Given the description of an element on the screen output the (x, y) to click on. 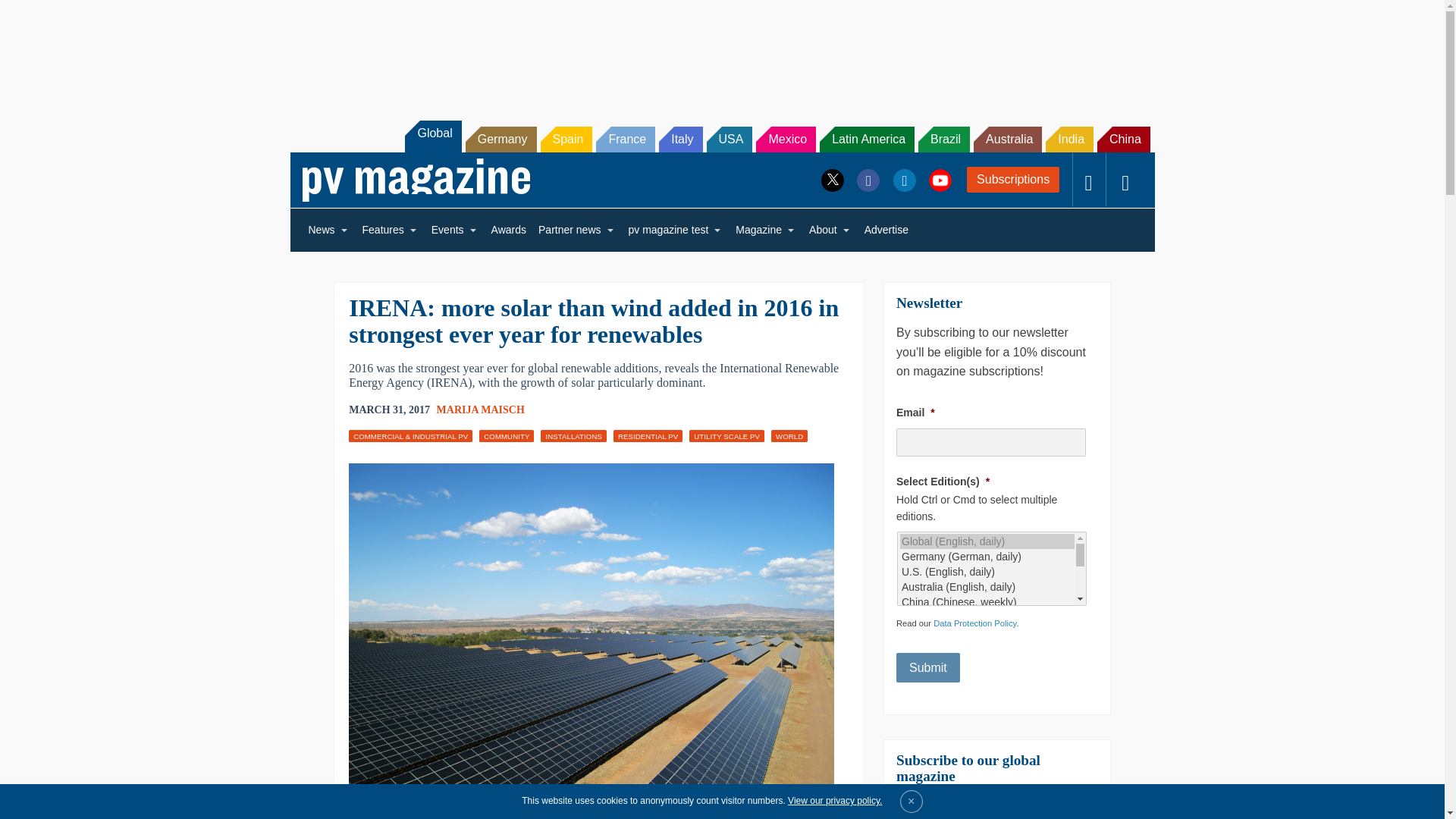
USA (729, 139)
Friday, March 31, 2017, 9:17 am (389, 410)
Mexico (785, 139)
India (1069, 139)
France (625, 139)
Brazil (943, 139)
China (1123, 139)
Subscriptions (1012, 179)
Global (432, 136)
pv magazine - Photovoltaics Markets and Technology (415, 179)
Latin America (866, 139)
Posts by Marija Maisch (480, 409)
Germany (501, 139)
3rd party ad content (721, 51)
Australia (1008, 139)
